Given the description of an element on the screen output the (x, y) to click on. 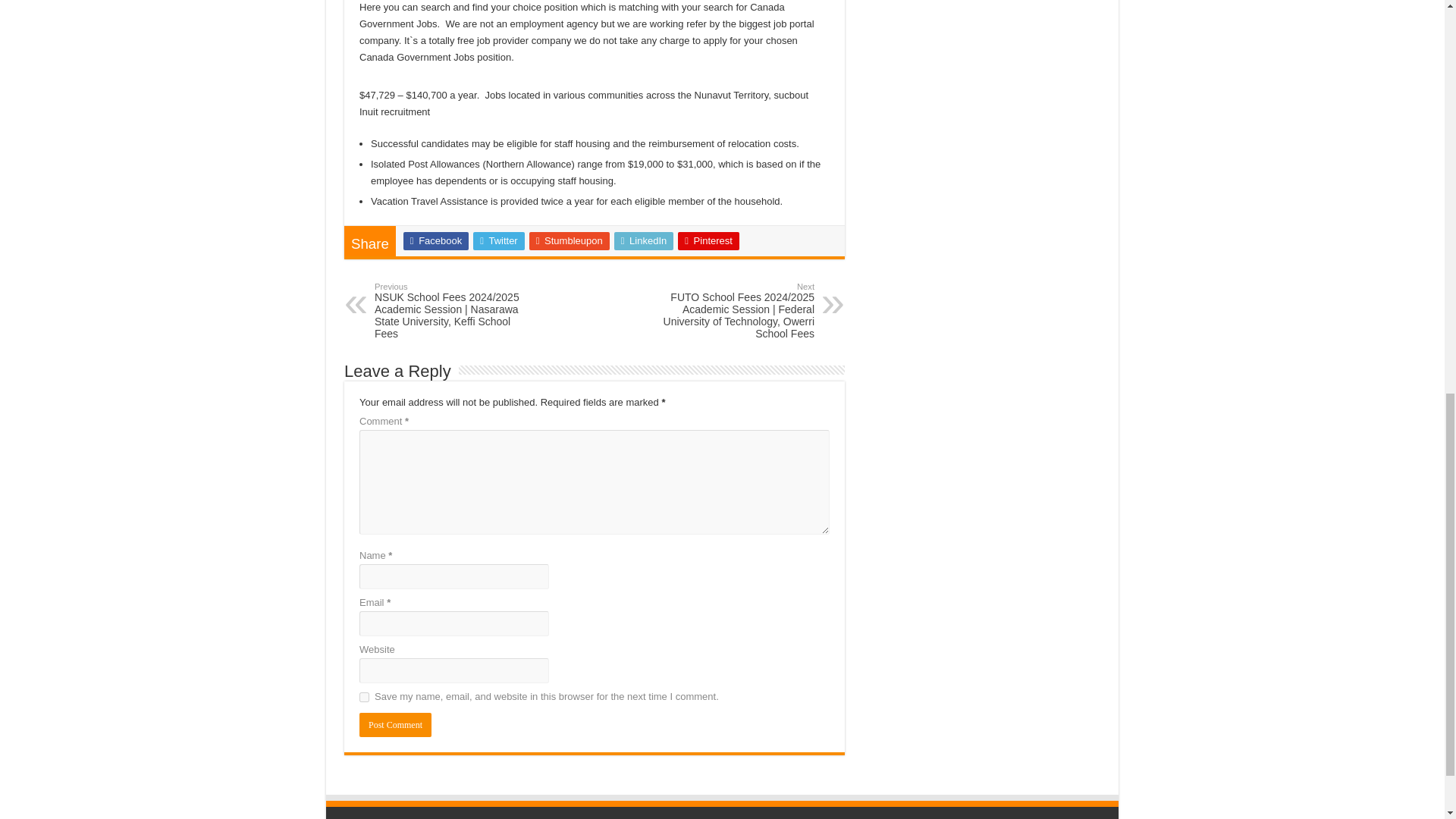
Pinterest (708, 240)
Stumbleupon (569, 240)
yes (364, 696)
Facebook (435, 240)
Post Comment (394, 724)
Scroll To Top (1421, 60)
Post Comment (394, 724)
Twitter (498, 240)
LinkedIn (644, 240)
